Given the description of an element on the screen output the (x, y) to click on. 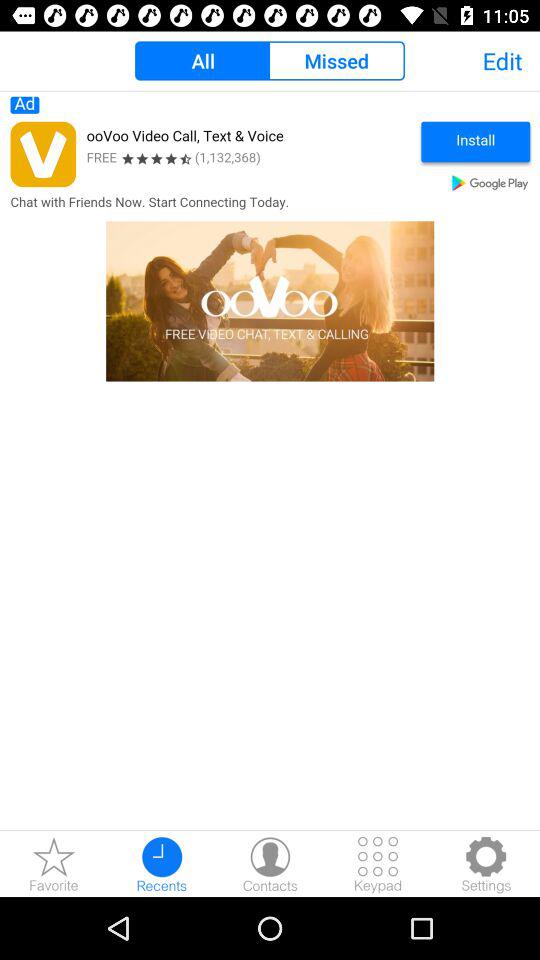
recent buttons (161, 864)
